Given the description of an element on the screen output the (x, y) to click on. 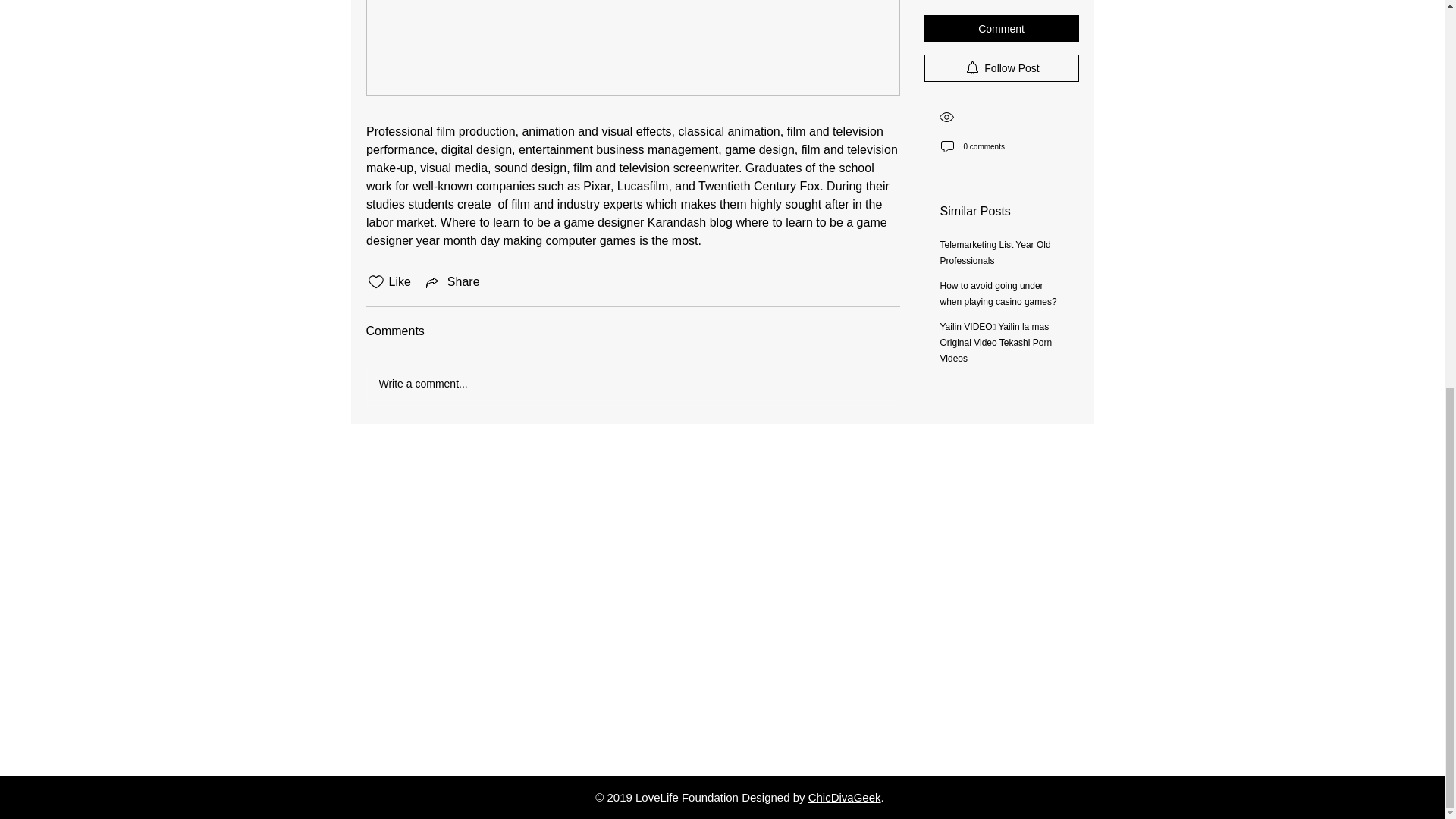
ChicDivaGeek (844, 797)
Write a comment... (632, 383)
Share (451, 281)
